Given the description of an element on the screen output the (x, y) to click on. 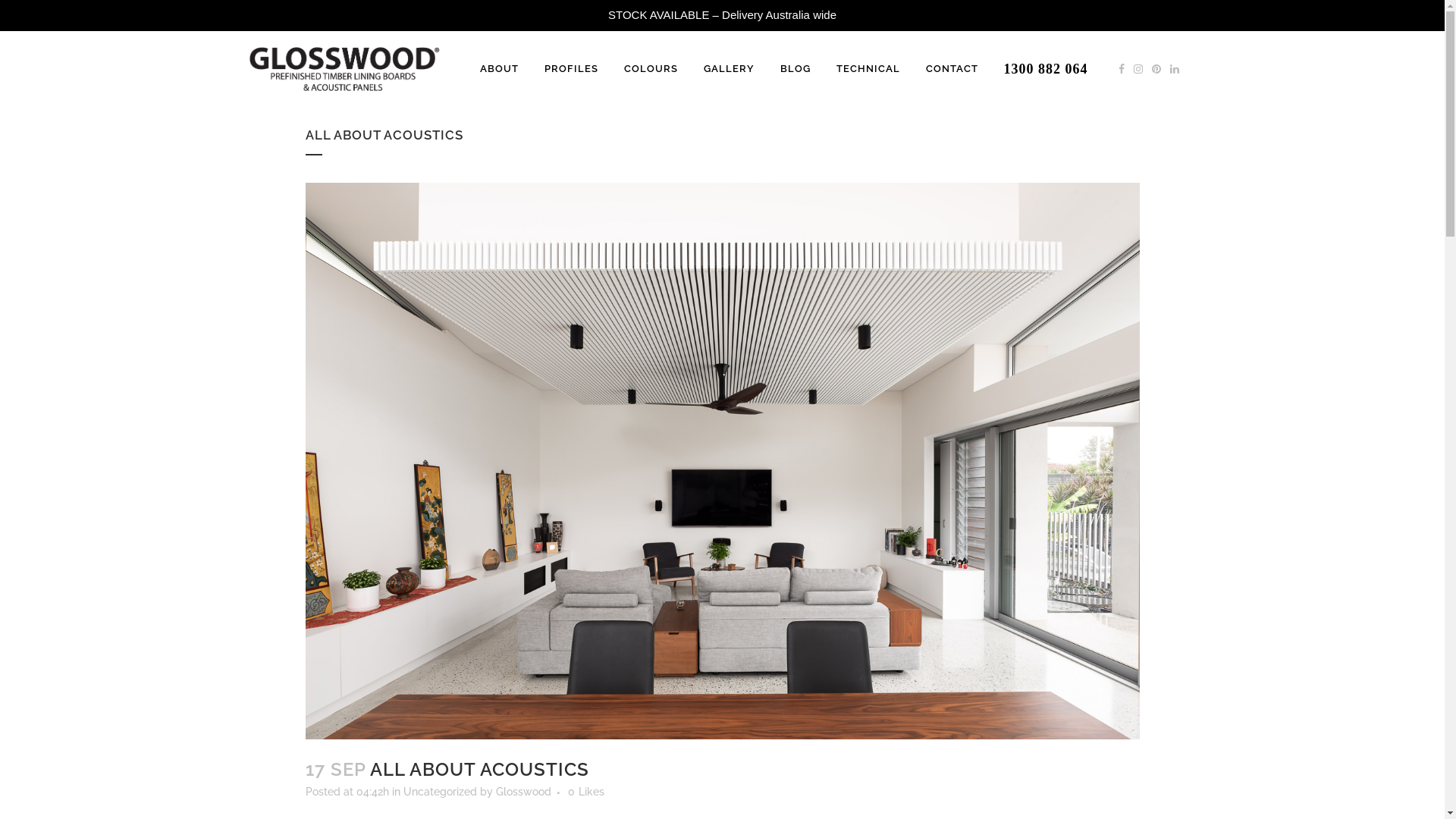
CONTACT Element type: text (952, 68)
COLOURS Element type: text (650, 68)
Glosswood Element type: text (523, 791)
BLOG Element type: text (795, 68)
1300 882 064 Element type: text (1045, 68)
PROFILES Element type: text (570, 68)
0 Likes Element type: text (585, 791)
Uncategorized Element type: text (439, 791)
ABOUT Element type: text (499, 68)
TECHNICAL Element type: text (868, 68)
GALLERY Element type: text (728, 68)
